Given the description of an element on the screen output the (x, y) to click on. 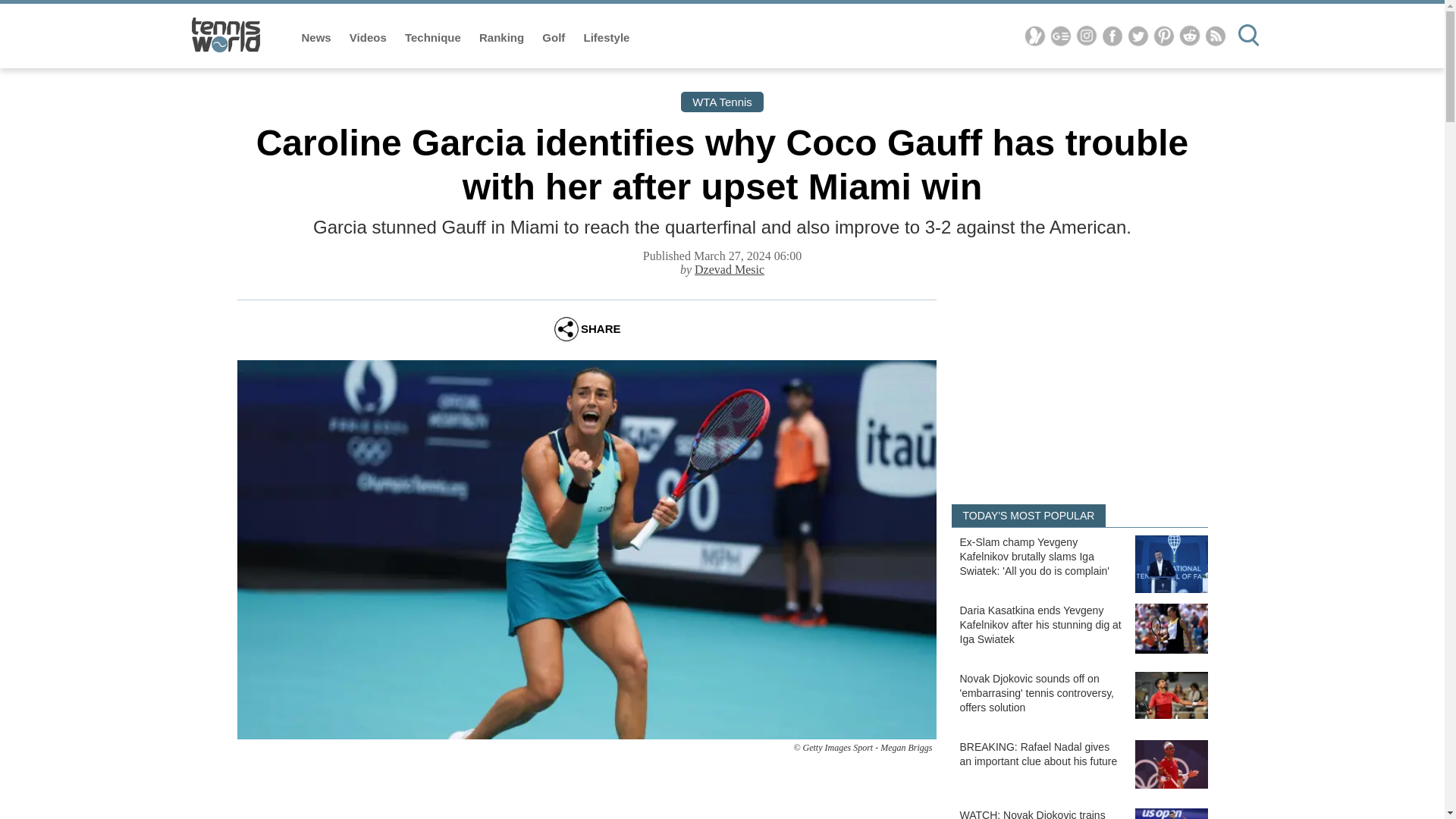
Videos (369, 37)
Lifestyle (606, 37)
Ranking (503, 37)
Technique (434, 37)
News (317, 37)
Golf (554, 37)
